Given the description of an element on the screen output the (x, y) to click on. 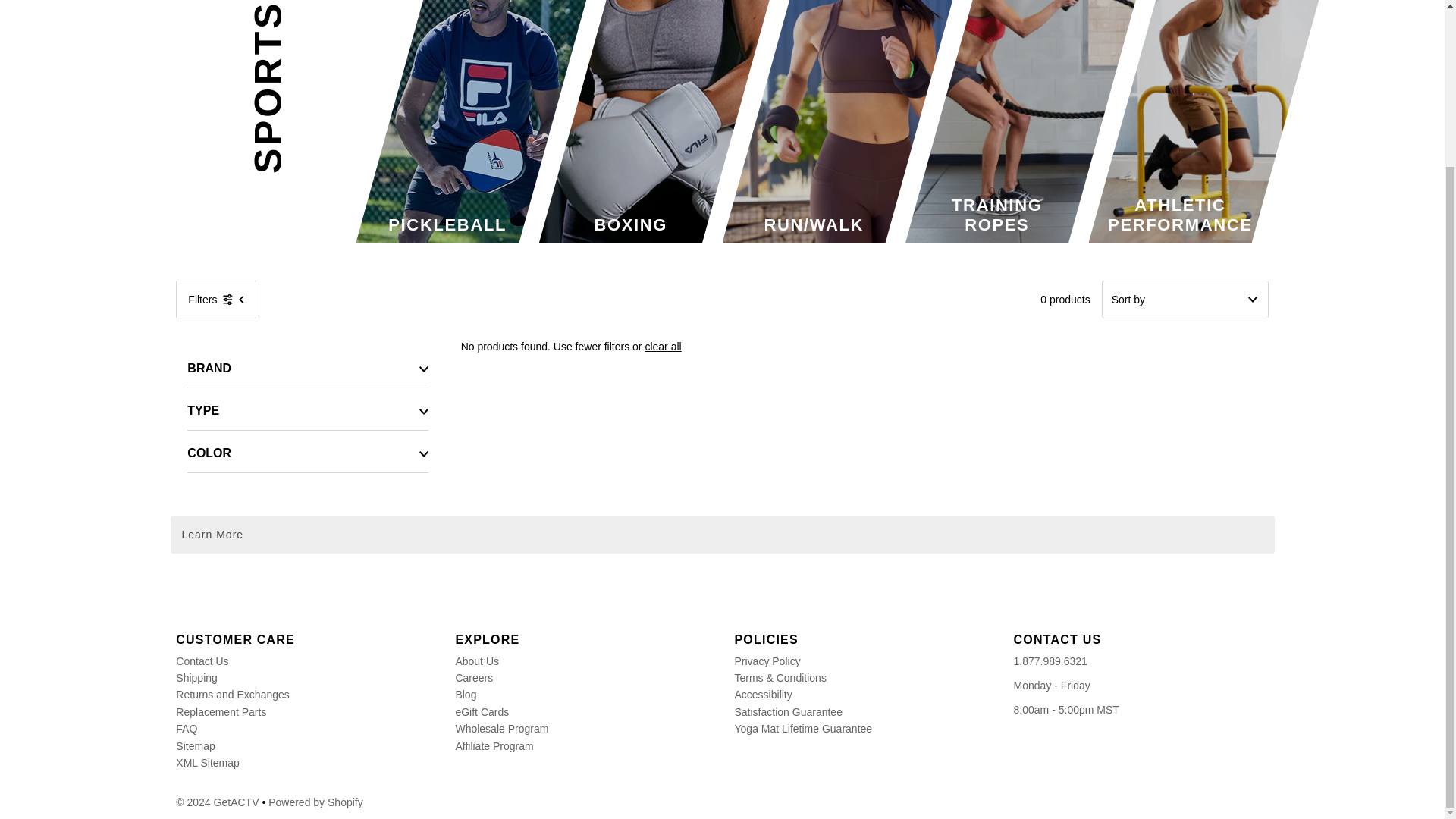
Youtube (748, 599)
Filters (216, 299)
